Given the description of an element on the screen output the (x, y) to click on. 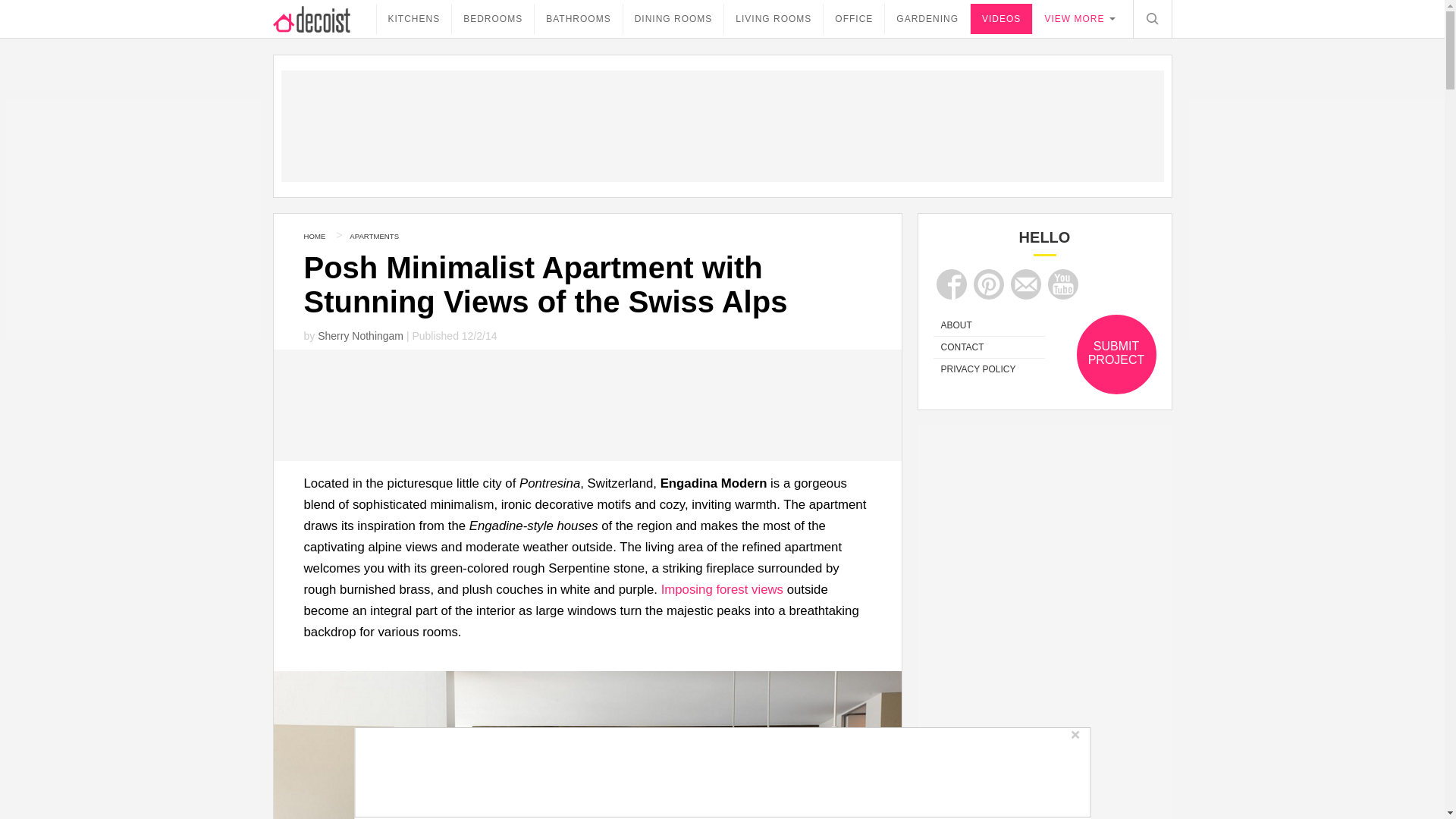
Search (1151, 18)
BATHROOMS (577, 19)
Home (313, 235)
APARTMENTS (373, 235)
Sherry Nothingam (360, 336)
OFFICE (853, 19)
LIVING ROOMS (772, 19)
Sherry Nothingam (360, 336)
BEDROOMS (492, 19)
DINING ROOMS (673, 19)
GARDENING (927, 19)
KITCHENS (413, 19)
Search (1151, 18)
VIEW MORE (1077, 18)
Apartments (373, 235)
